Given the description of an element on the screen output the (x, y) to click on. 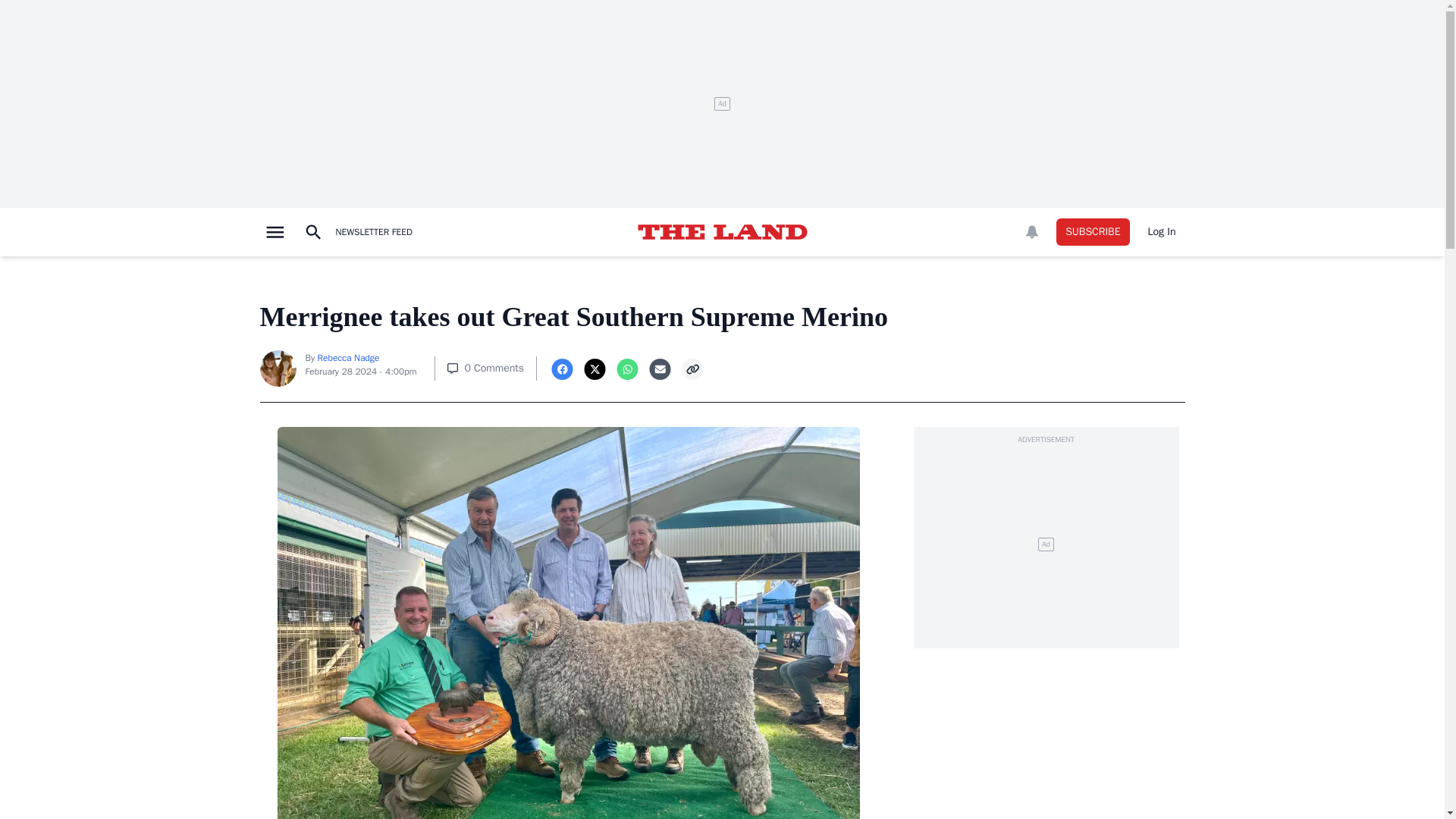
NEWSLETTER FEED (373, 232)
SUBSCRIBE (1093, 231)
Log In (1161, 231)
